Given the description of an element on the screen output the (x, y) to click on. 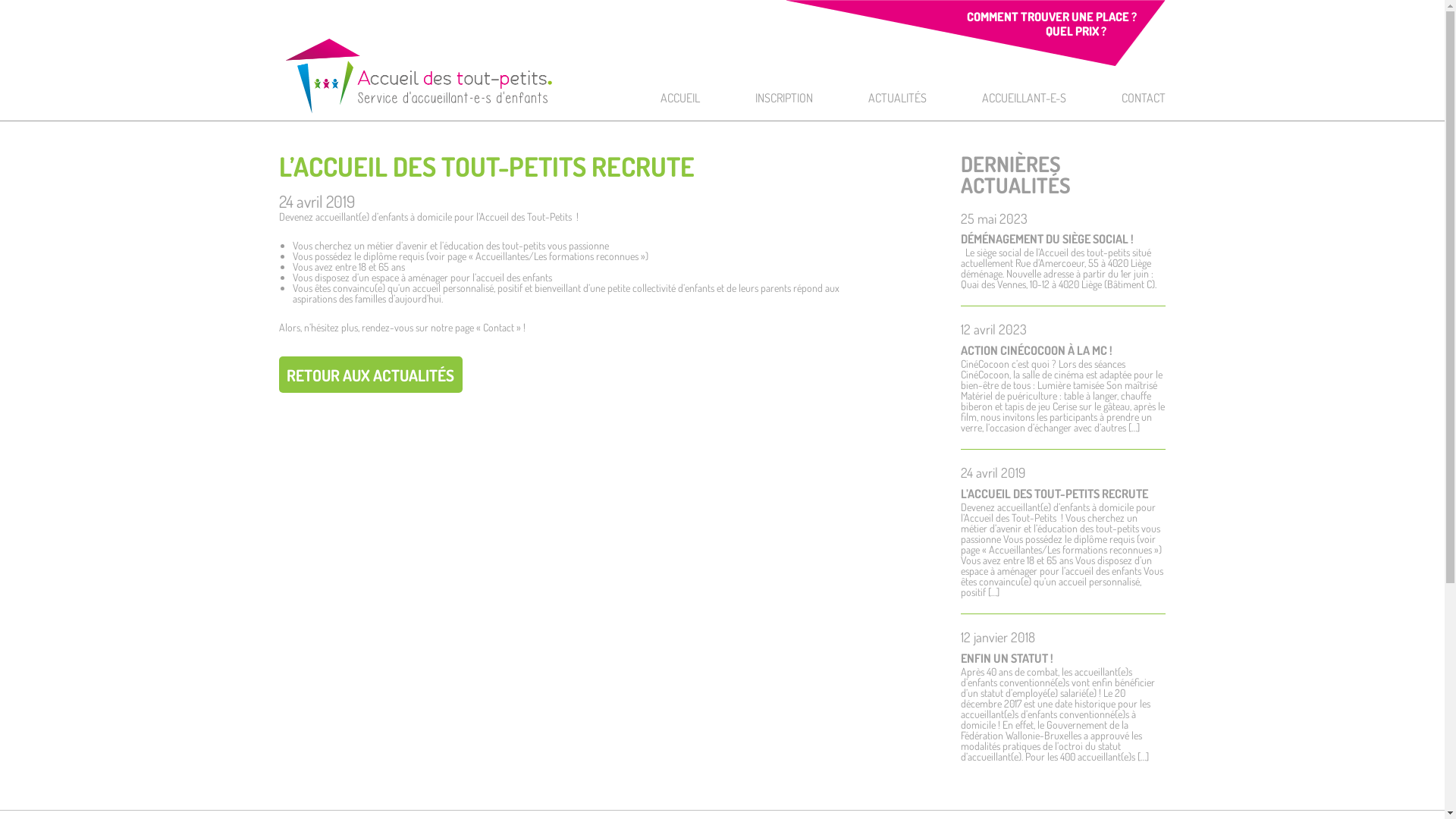
INSCRIPTION Element type: text (783, 97)
CONTACT Element type: text (1143, 97)
ACCUEILLANT-E-S Element type: text (1024, 97)
Accueil des Tout-Petits Element type: hover (419, 75)
ACCUEIL Element type: text (679, 97)
